Given the description of an element on the screen output the (x, y) to click on. 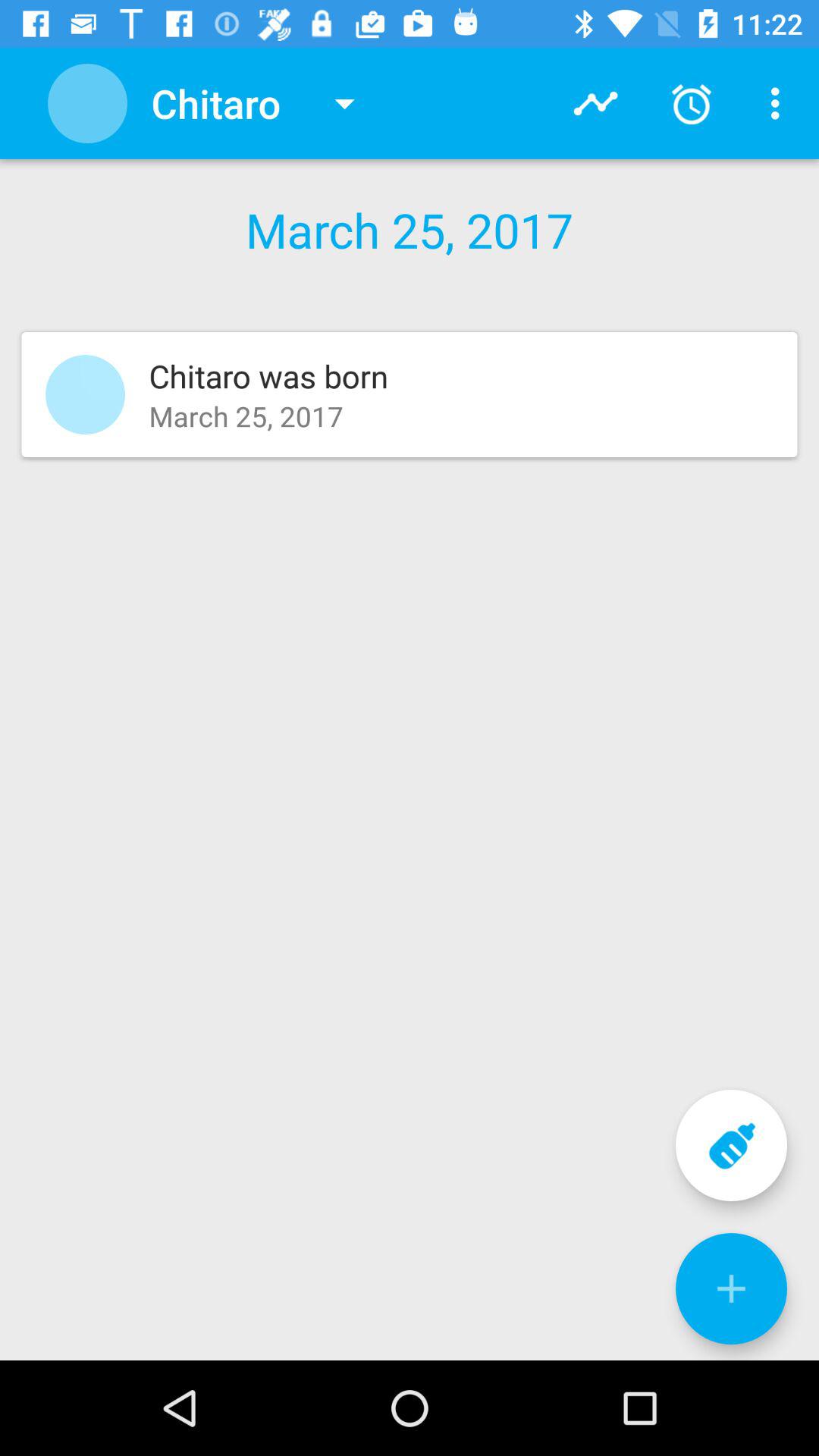
click on the alarm icon (691, 103)
click on the chitaro was born option (409, 394)
go to left of chitaro was born (85, 394)
click on menu icon in top (779, 103)
select the plus symbol in blue color (731, 1288)
click on icon which is left to chitaro (87, 103)
